Given the description of an element on the screen output the (x, y) to click on. 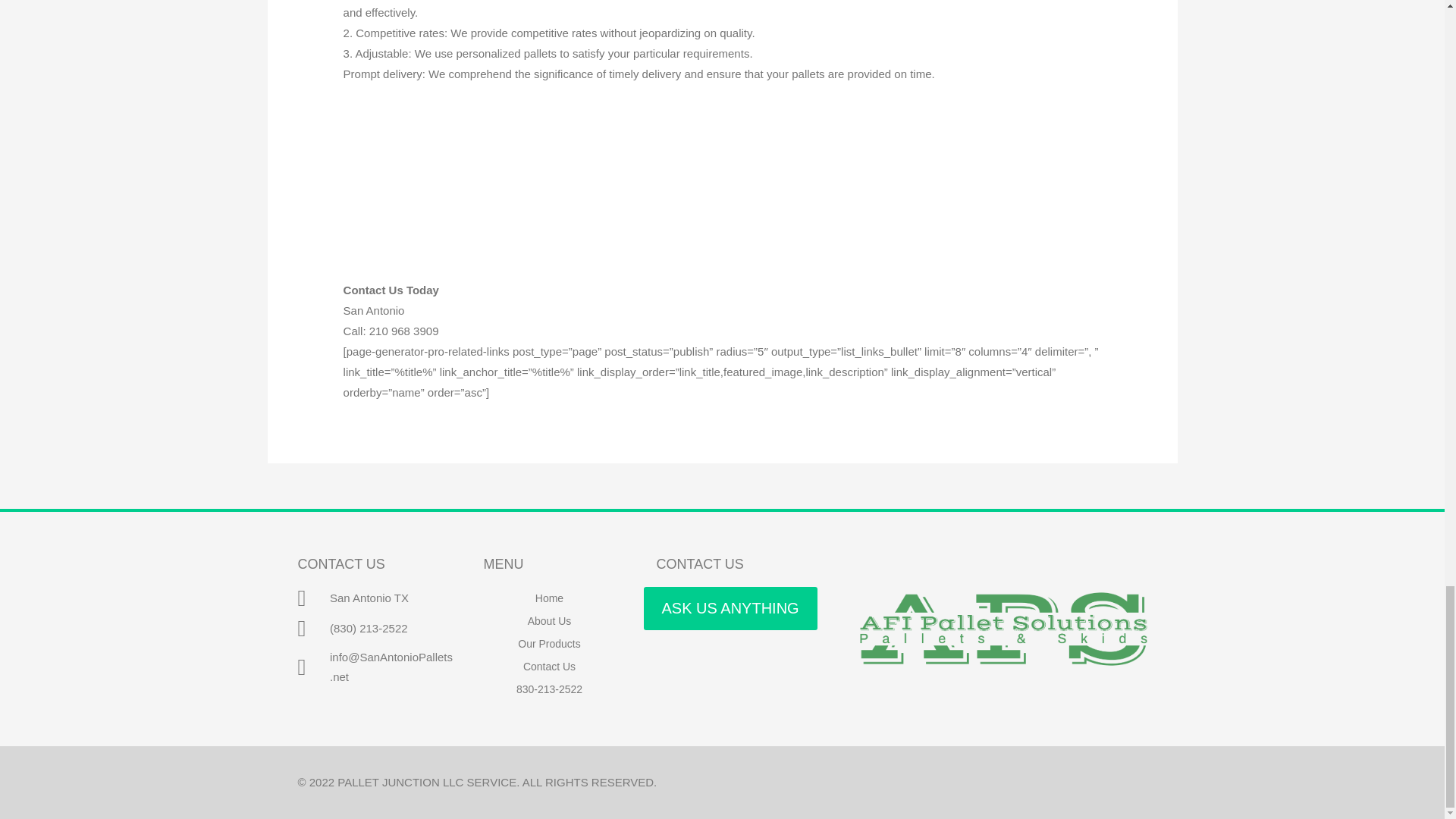
About Us (548, 620)
Home (548, 598)
Contact Us (548, 666)
830-213-2522 (548, 689)
Our Products (548, 643)
ASK US ANYTHING (729, 608)
